Given the description of an element on the screen output the (x, y) to click on. 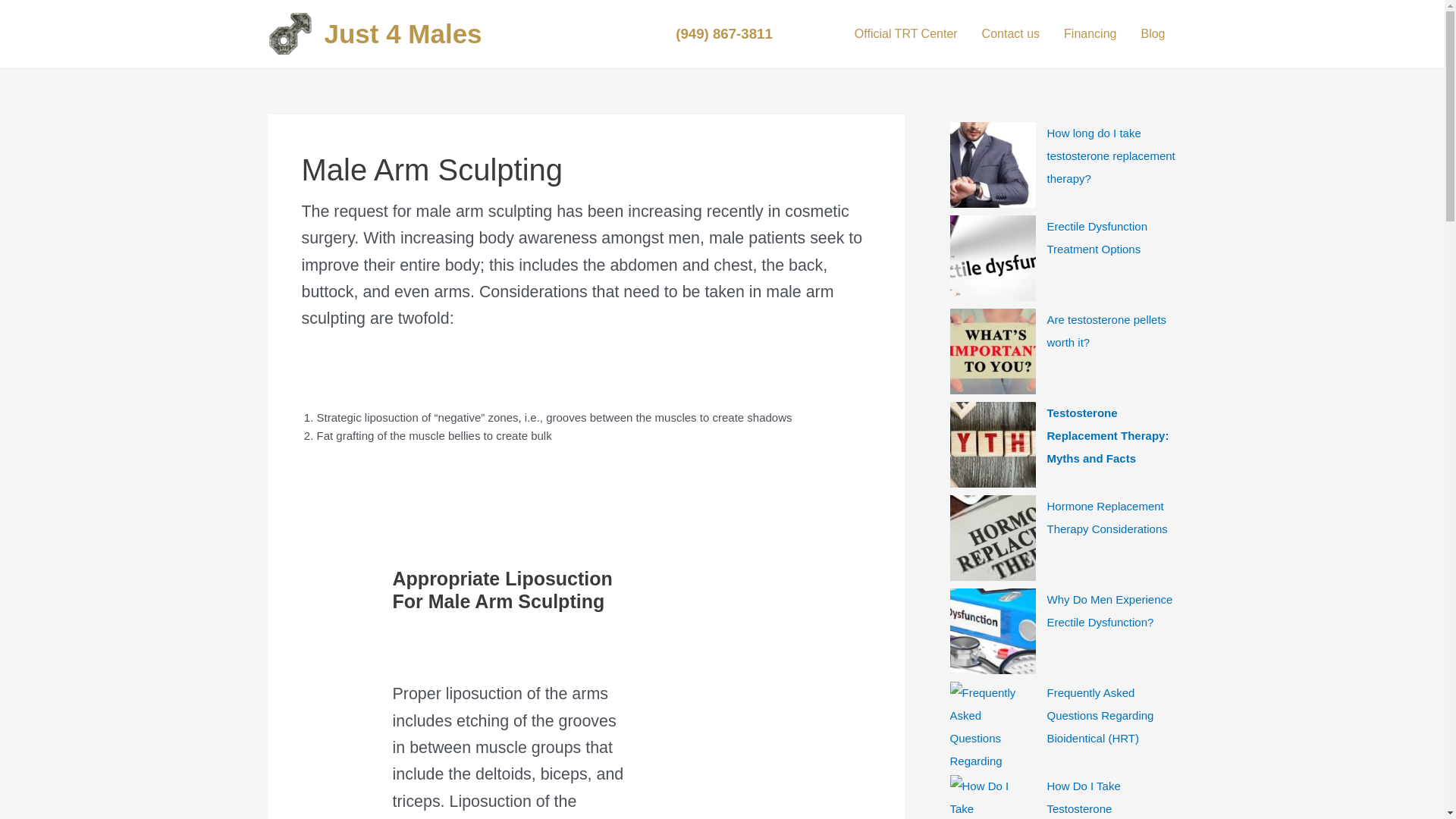
Financing (1089, 33)
Testosterone Replacement Therapy: Myths and Facts (1107, 435)
Are testosterone pellets worth it? (1106, 330)
Official TRT Center (906, 33)
Erectile Dysfunction Treatment Options (1096, 237)
How long do I take testosterone replacement therapy? (1110, 155)
Blog (1152, 33)
Just 4 Males (402, 33)
Why Do Men Experience Erectile Dysfunction? (1109, 610)
Hormone Replacement Therapy Considerations (1106, 517)
Contact us (1010, 33)
